Given the description of an element on the screen output the (x, y) to click on. 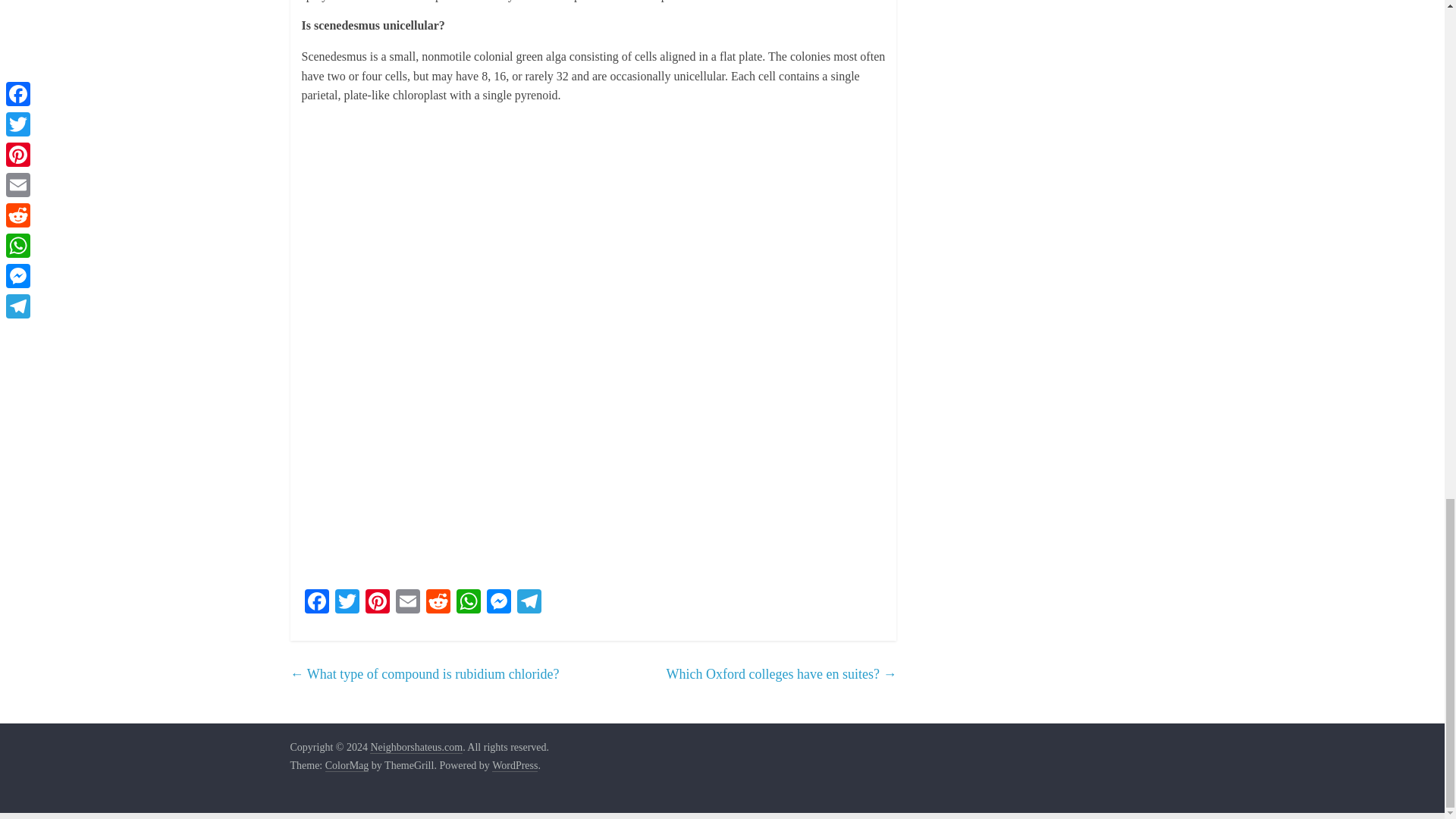
Telegram (528, 602)
Twitter (346, 602)
Reddit (437, 602)
WhatsApp (467, 602)
Pinterest (377, 602)
Facebook (316, 602)
Email (408, 602)
Telegram (528, 602)
Messenger (498, 602)
